Given the description of an element on the screen output the (x, y) to click on. 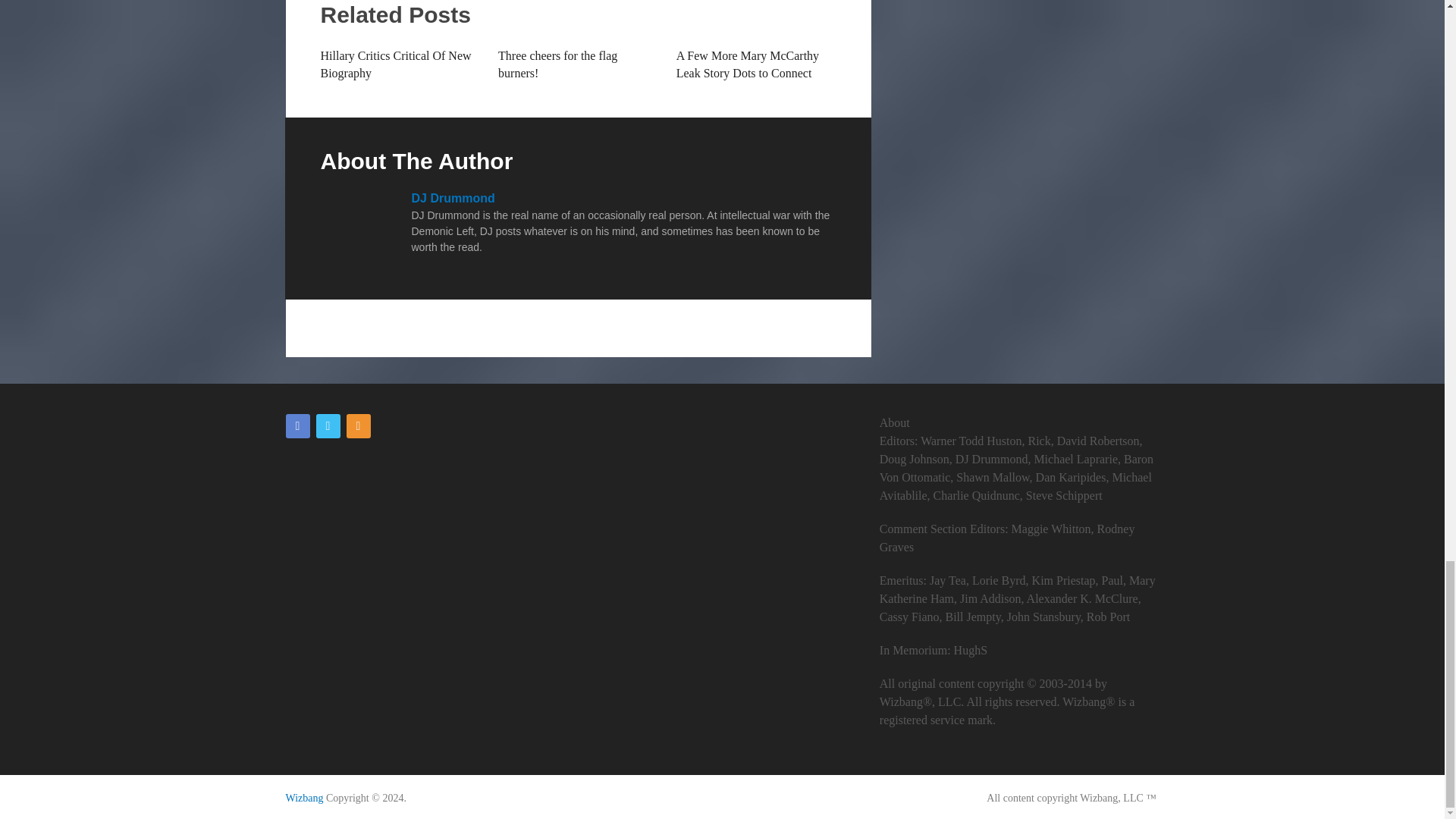
A Few More Mary McCarthy Leak Story Dots to Connect (747, 63)
A Few More Mary McCarthy Leak Story Dots to Connect (747, 63)
Three cheers for the flag burners! (557, 63)
DJ Drummond (452, 197)
Hillary Critics Critical Of New Biography (395, 63)
Three cheers for the flag burners! (557, 63)
Hillary Critics Critical Of New Biography (395, 63)
